Given the description of an element on the screen output the (x, y) to click on. 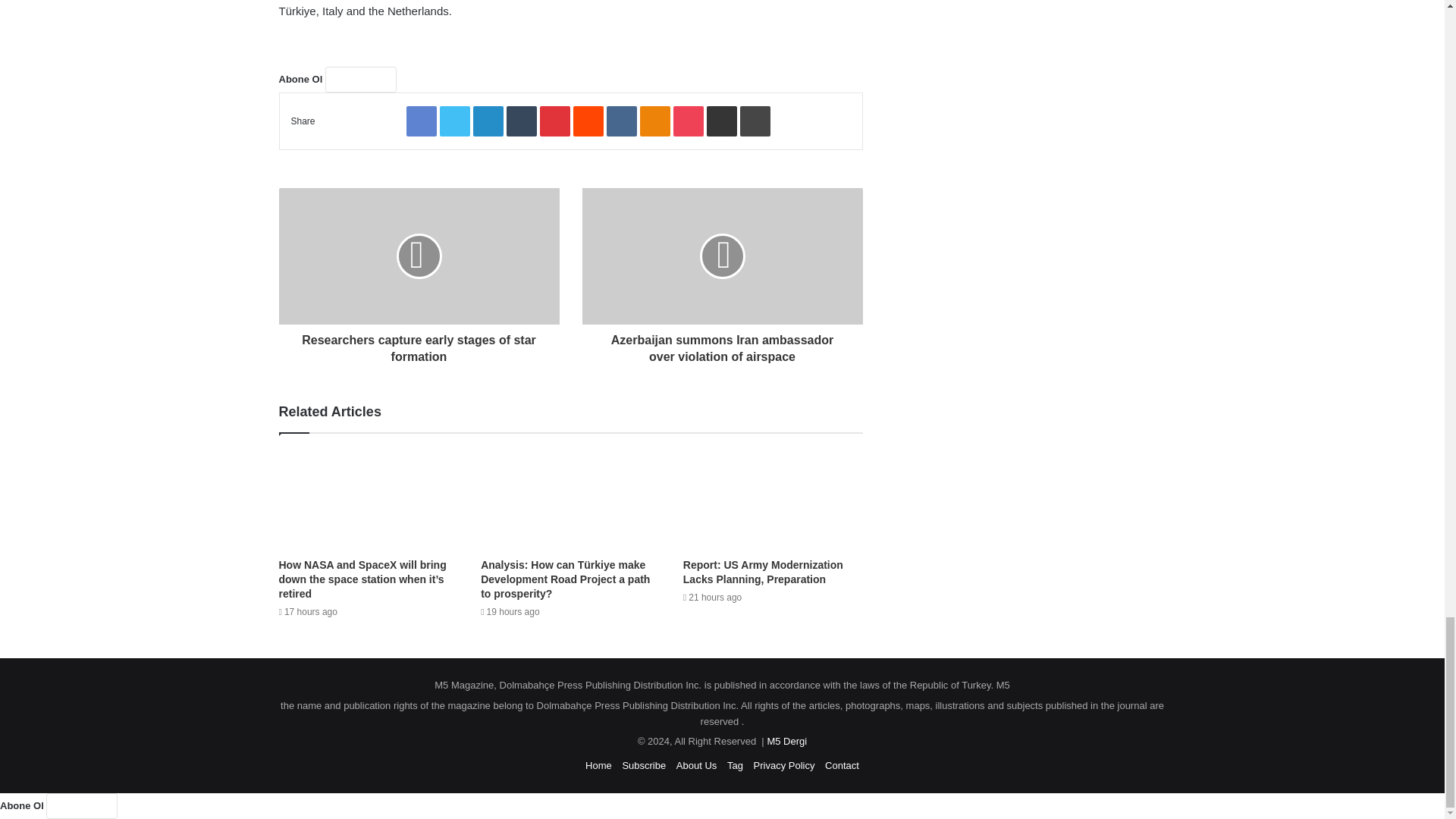
Abone Ol (360, 79)
